Given the description of an element on the screen output the (x, y) to click on. 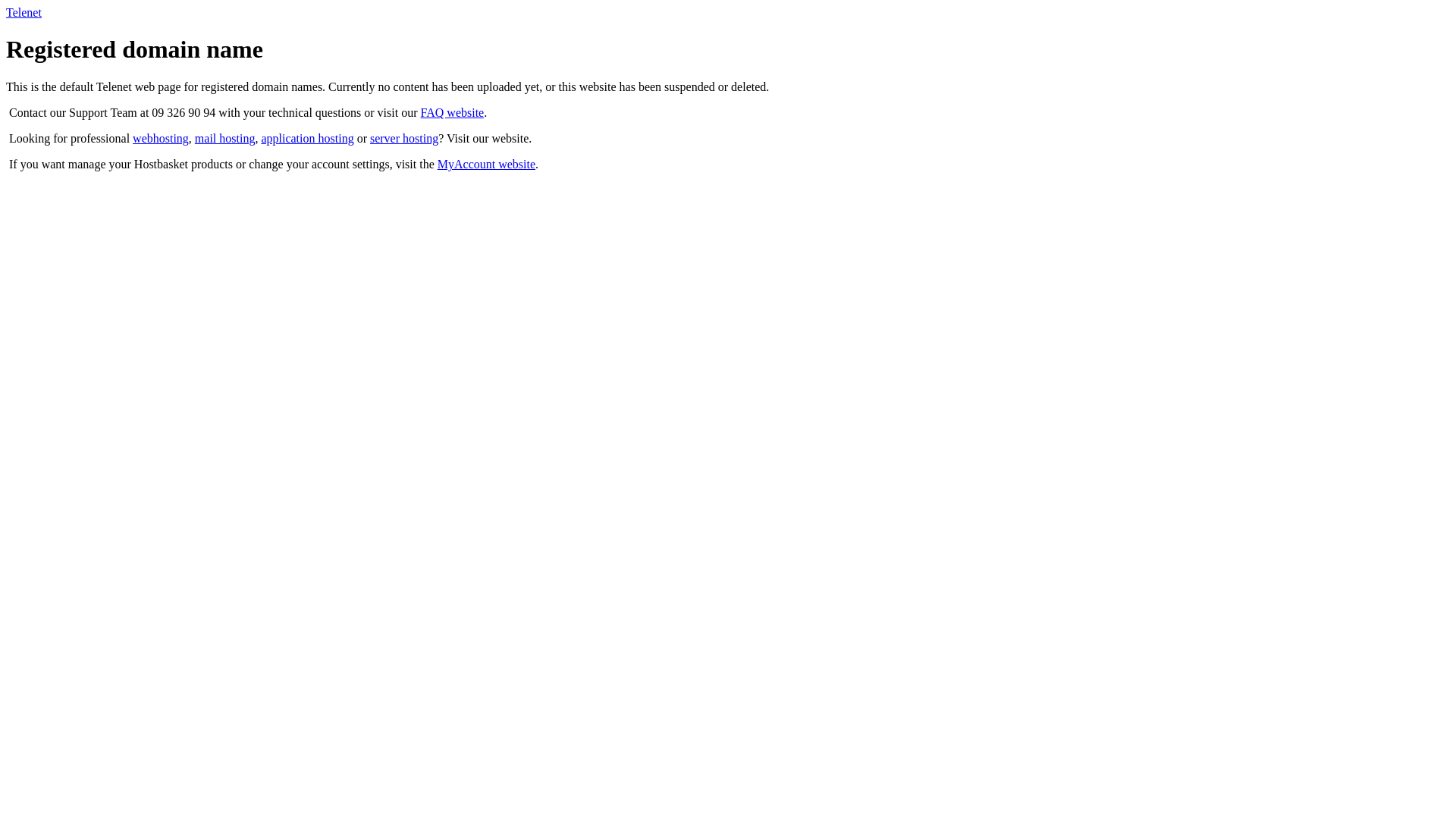
MyAccount website Element type: text (486, 163)
webhosting Element type: text (160, 137)
application hosting Element type: text (306, 137)
server hosting Element type: text (404, 137)
mail hosting Element type: text (224, 137)
FAQ website Element type: text (452, 112)
Telenet Element type: text (23, 12)
